Given the description of an element on the screen output the (x, y) to click on. 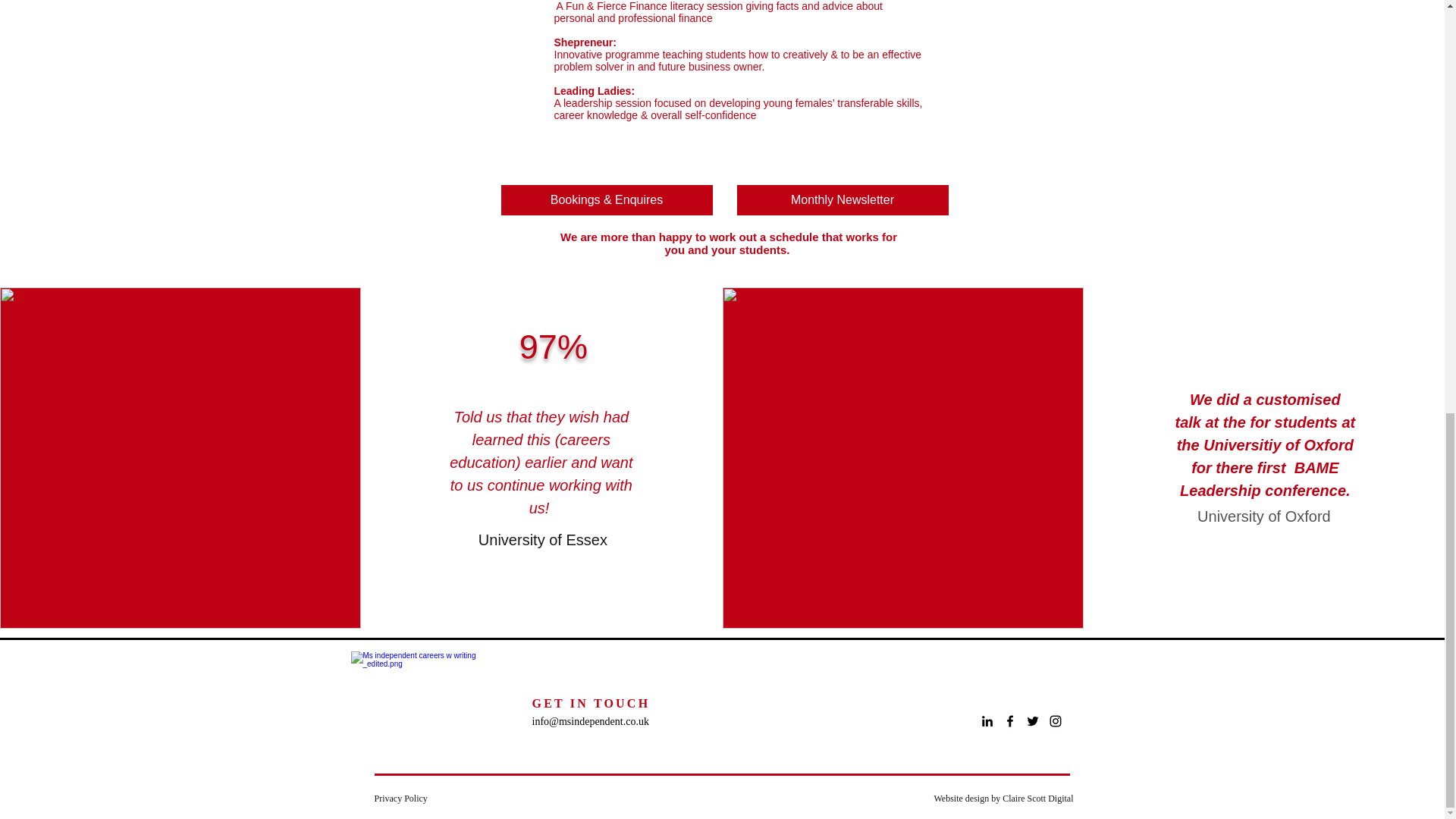
Monthly Newsletter (842, 200)
Privacy Policy (401, 798)
Website design by Claire Scott Digital (1003, 798)
